Given the description of an element on the screen output the (x, y) to click on. 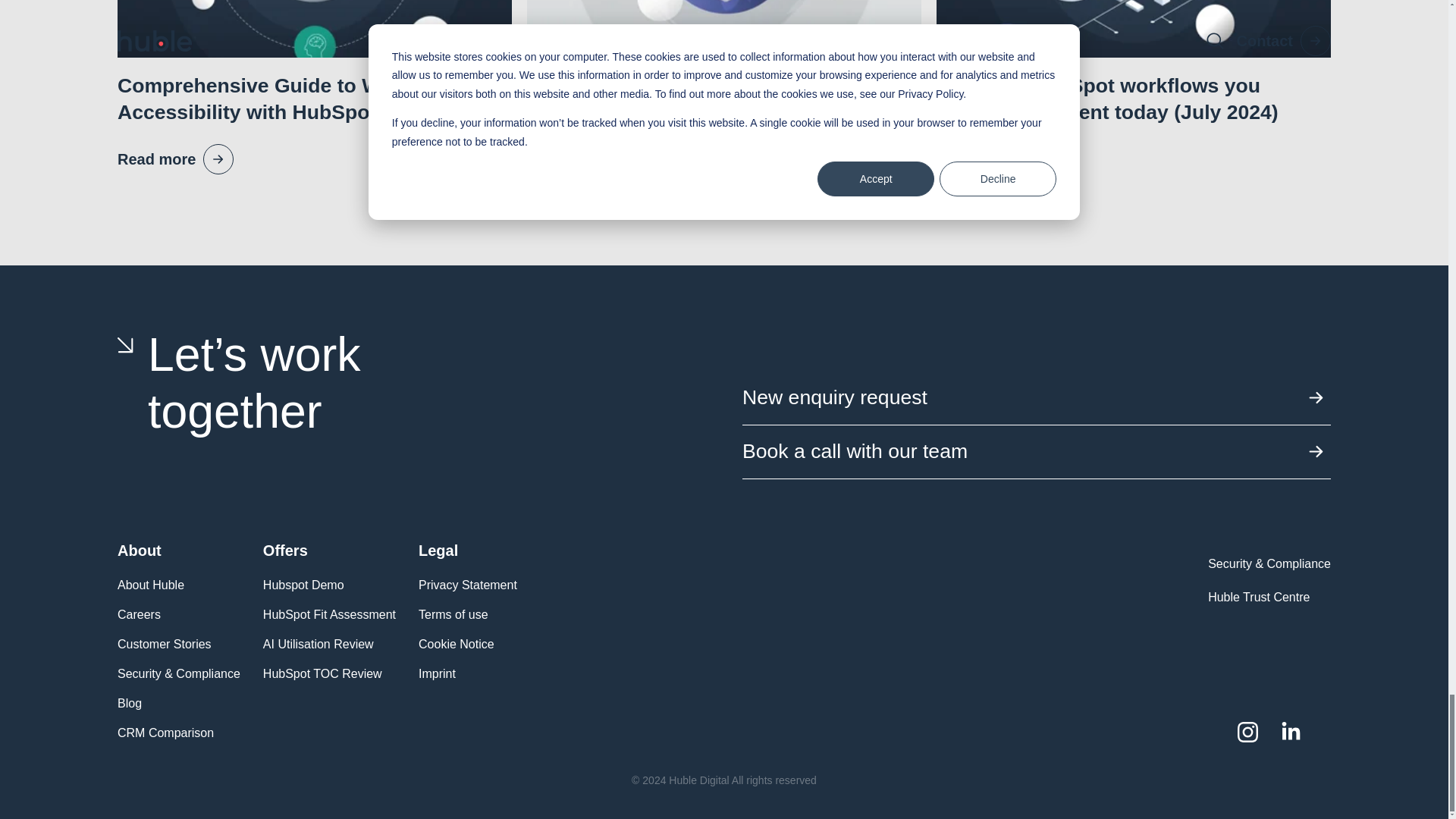
Read more (174, 159)
Read more (585, 159)
